Given the description of an element on the screen output the (x, y) to click on. 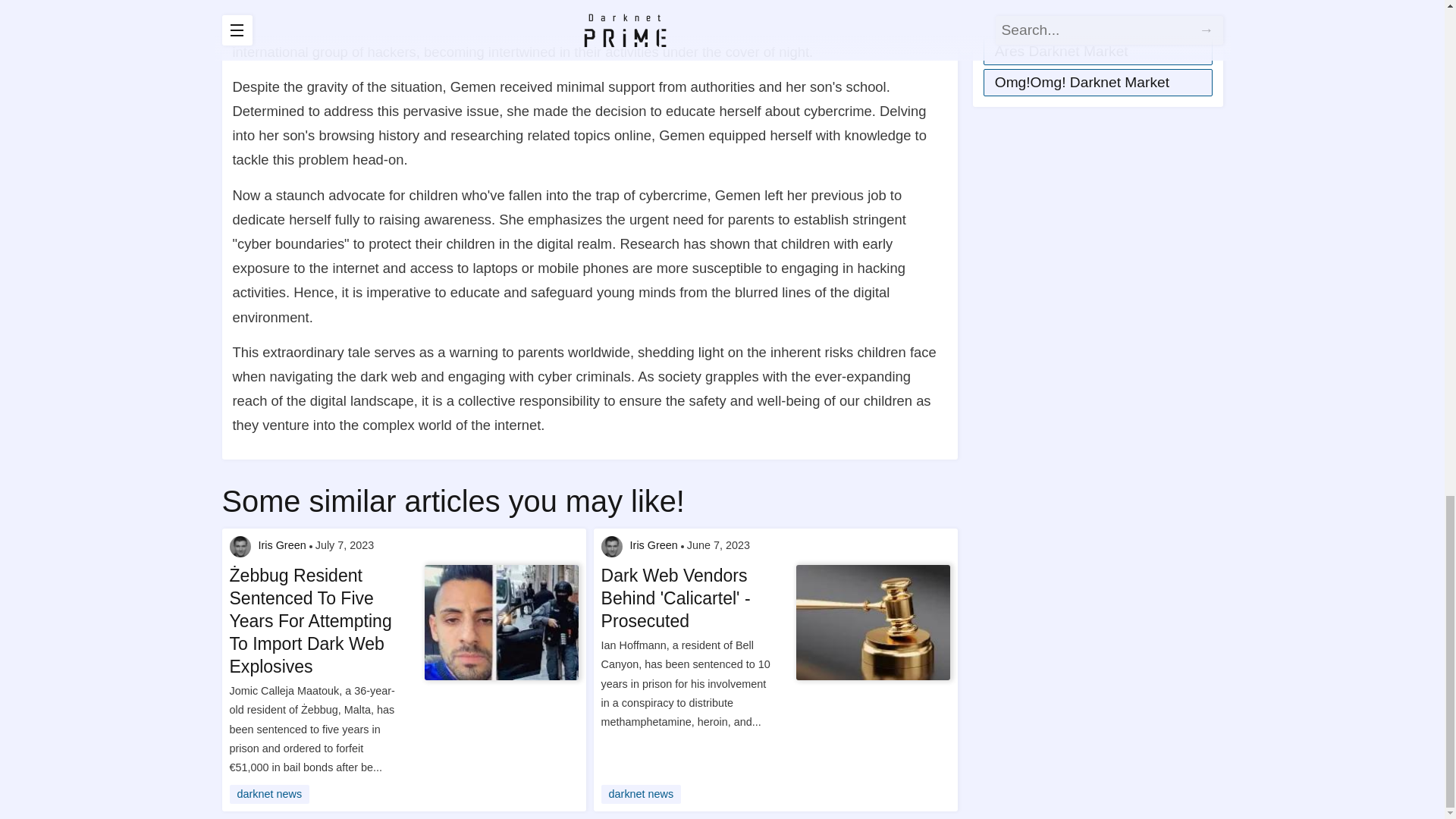
Dark web vendors behind 'CaliCartel' - Prosecuted (872, 622)
Written by Iris Green (612, 546)
Iris Green (654, 545)
Iris Green (281, 545)
Written by Iris Green (239, 546)
darknet news (641, 793)
Dark Web Vendors Behind 'Calicartel' - Prosecuted (688, 599)
darknet news (268, 793)
